Given the description of an element on the screen output the (x, y) to click on. 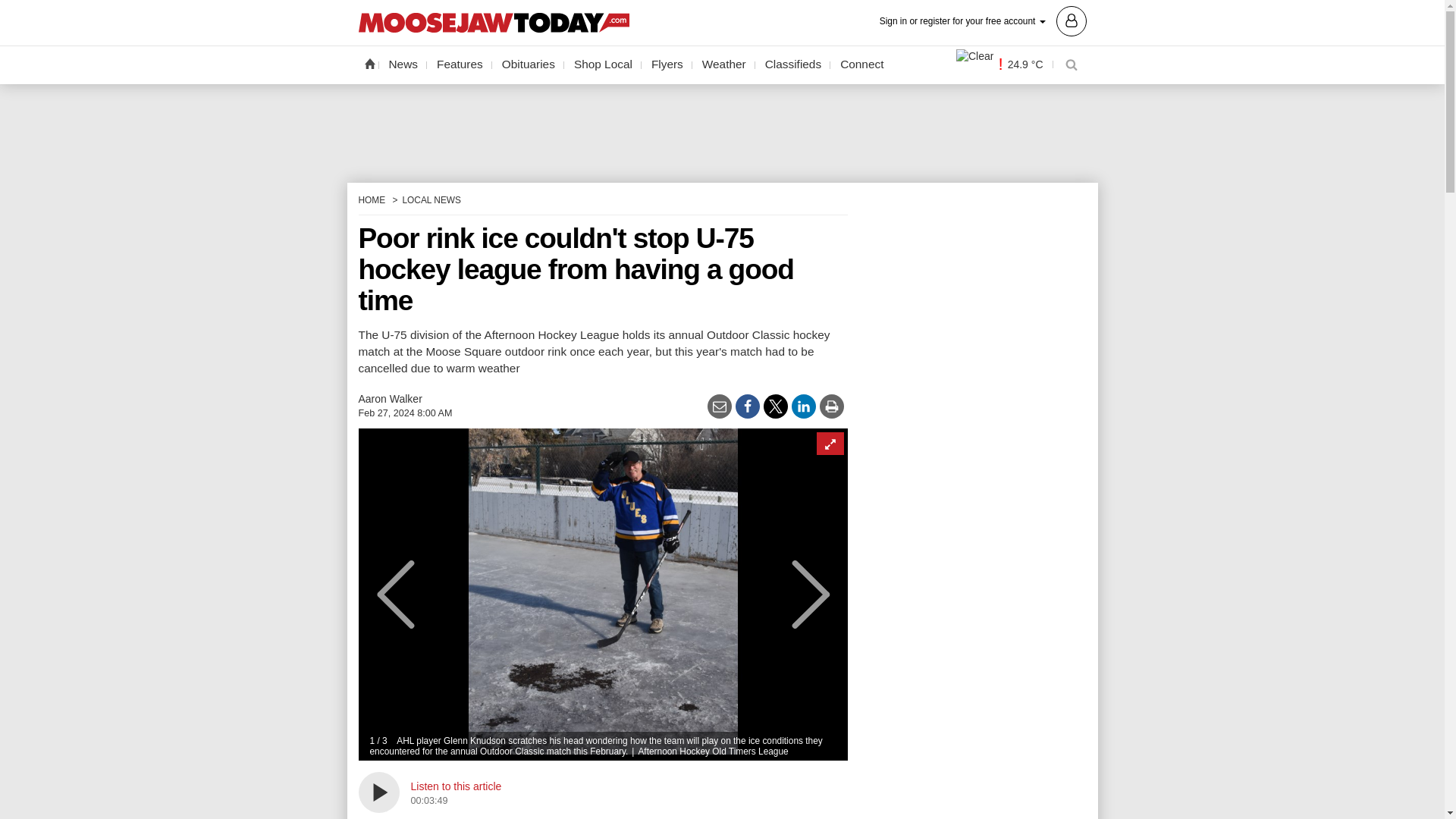
News (403, 64)
Expand (829, 443)
Flyers (667, 64)
Shop Local (603, 64)
Obituaries (528, 64)
Sign in or register for your free account (982, 20)
Home (368, 63)
